Given the description of an element on the screen output the (x, y) to click on. 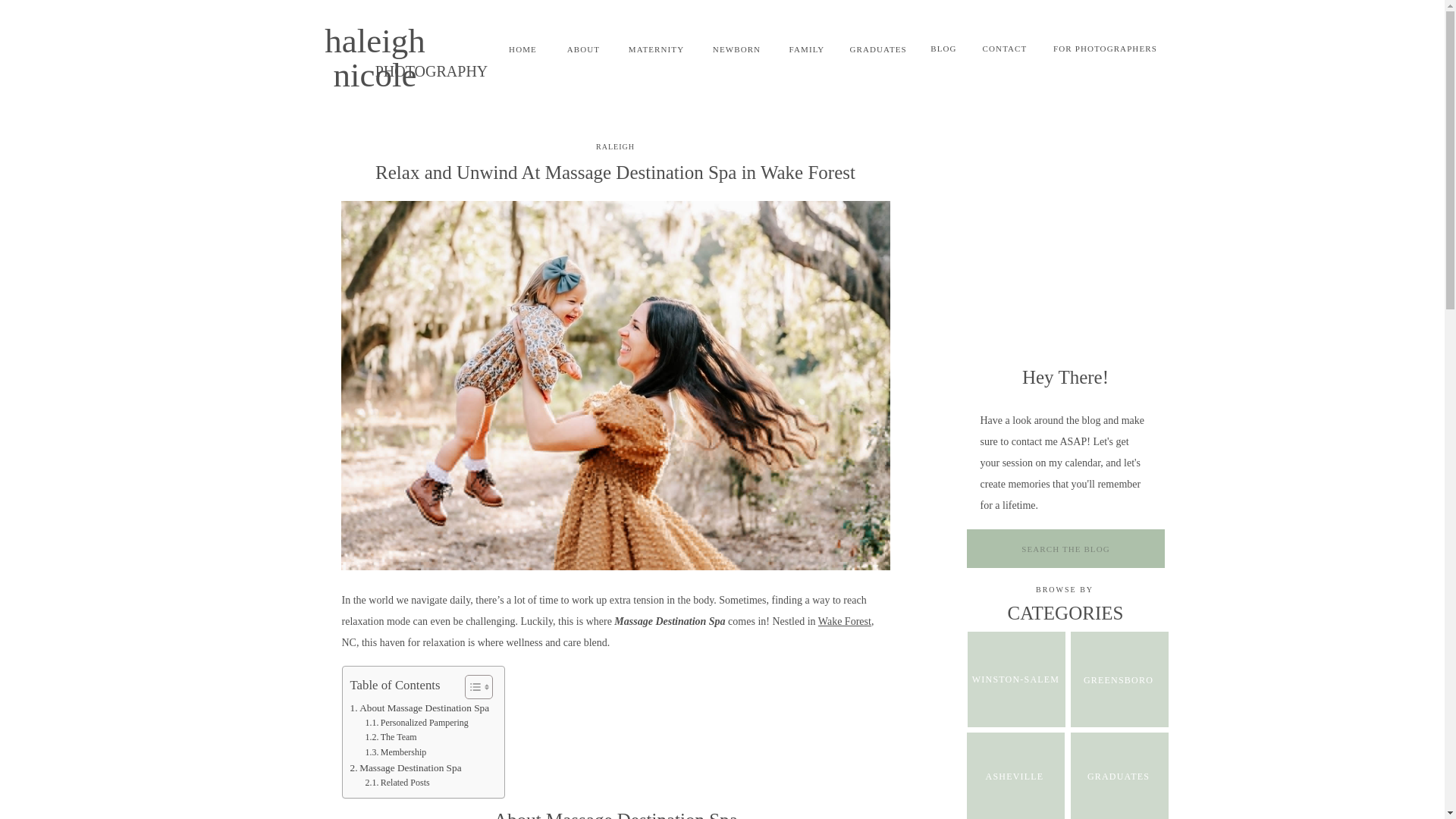
haleigh nicole (374, 43)
HOME (522, 49)
RALEIGH (614, 146)
MATERNITY (655, 49)
Related Posts (397, 782)
WINSTON-SALEM (1016, 678)
ASHEVILLE (1014, 776)
GRADUATES (876, 49)
Wake Forest (844, 621)
